Given the description of an element on the screen output the (x, y) to click on. 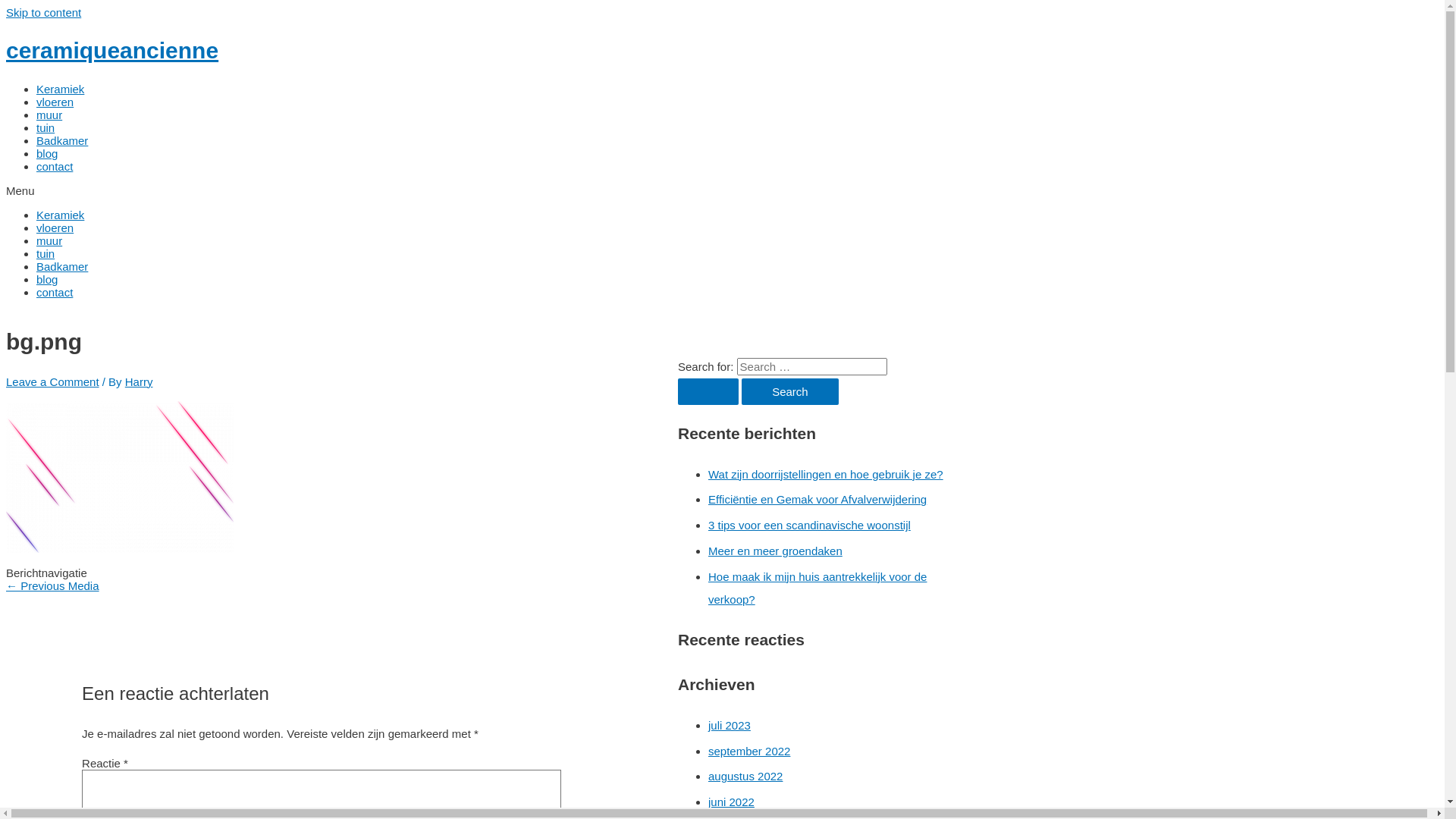
tuin Element type: text (45, 127)
Keramiek Element type: text (60, 88)
blog Element type: text (46, 279)
Keramiek Element type: text (60, 214)
ceramiqueancienne Element type: text (112, 49)
Hoe maak ik mijn huis aantrekkelijk voor de verkoop? Element type: text (817, 587)
Leave a Comment Element type: text (52, 381)
juli 2023 Element type: text (729, 724)
blog Element type: text (46, 153)
contact Element type: text (54, 291)
3 tips voor een scandinavische woonstijl Element type: text (809, 524)
vloeren Element type: text (54, 101)
Badkamer Element type: text (61, 266)
Wat zijn doorrijstellingen en hoe gebruik je ze? Element type: text (825, 473)
vloeren Element type: text (54, 227)
muur Element type: text (49, 240)
Skip to content Element type: text (43, 12)
Meer en meer groendaken Element type: text (775, 550)
tuin Element type: text (45, 253)
september 2022 Element type: text (749, 750)
juni 2022 Element type: text (731, 801)
muur Element type: text (49, 114)
augustus 2022 Element type: text (745, 775)
contact Element type: text (54, 166)
Harry Element type: text (139, 381)
Badkamer Element type: text (61, 140)
Search Element type: text (789, 391)
